Given the description of an element on the screen output the (x, y) to click on. 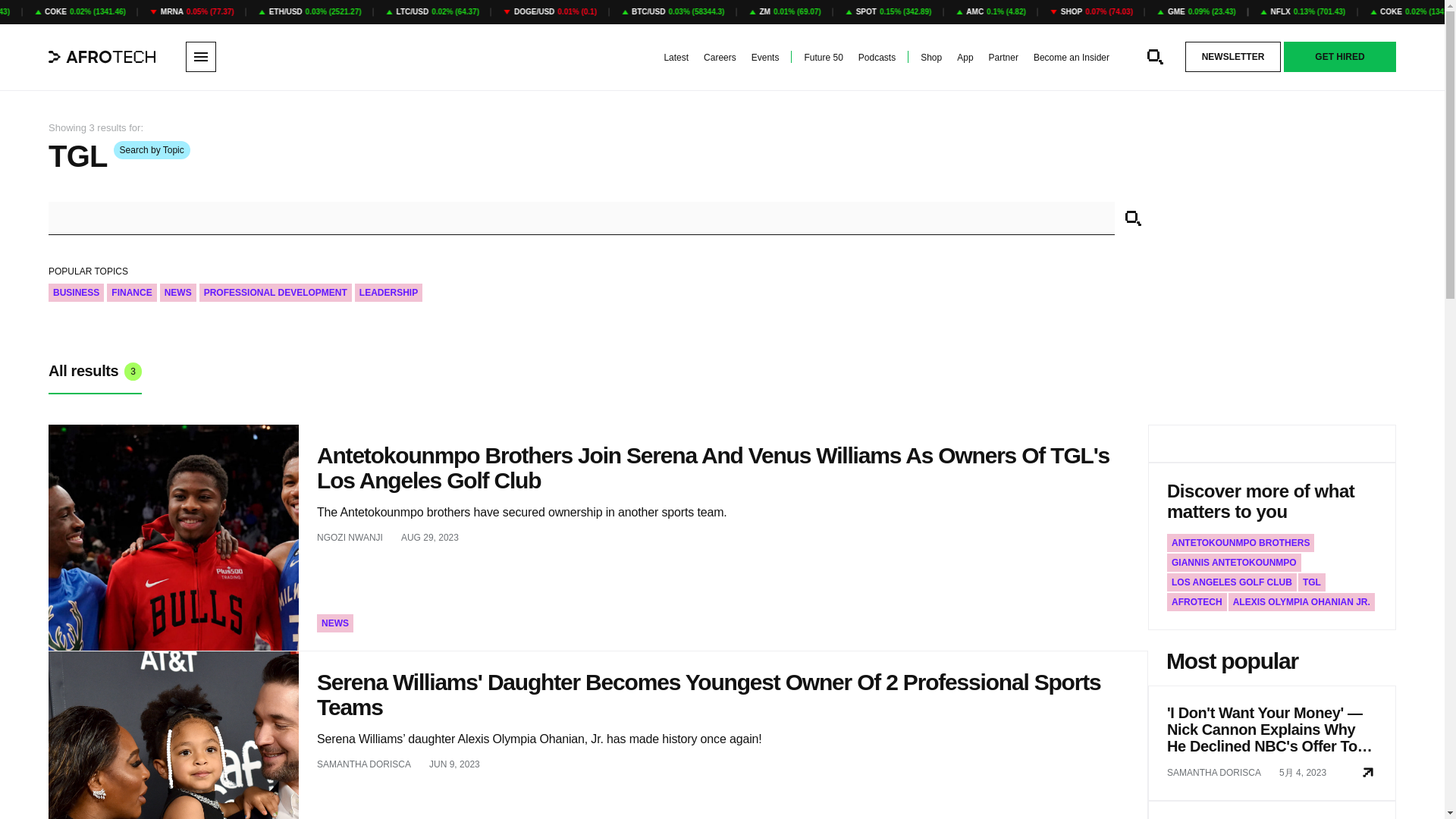
AFROTECH (1197, 601)
FINANCE (130, 292)
Partner (1002, 57)
NEWS (335, 623)
BUSINESS (75, 292)
GET HIRED (1340, 56)
ANTETOKOUNMPO BROTHERS (1240, 542)
Future 50 (823, 57)
Careers (719, 57)
